Given the description of an element on the screen output the (x, y) to click on. 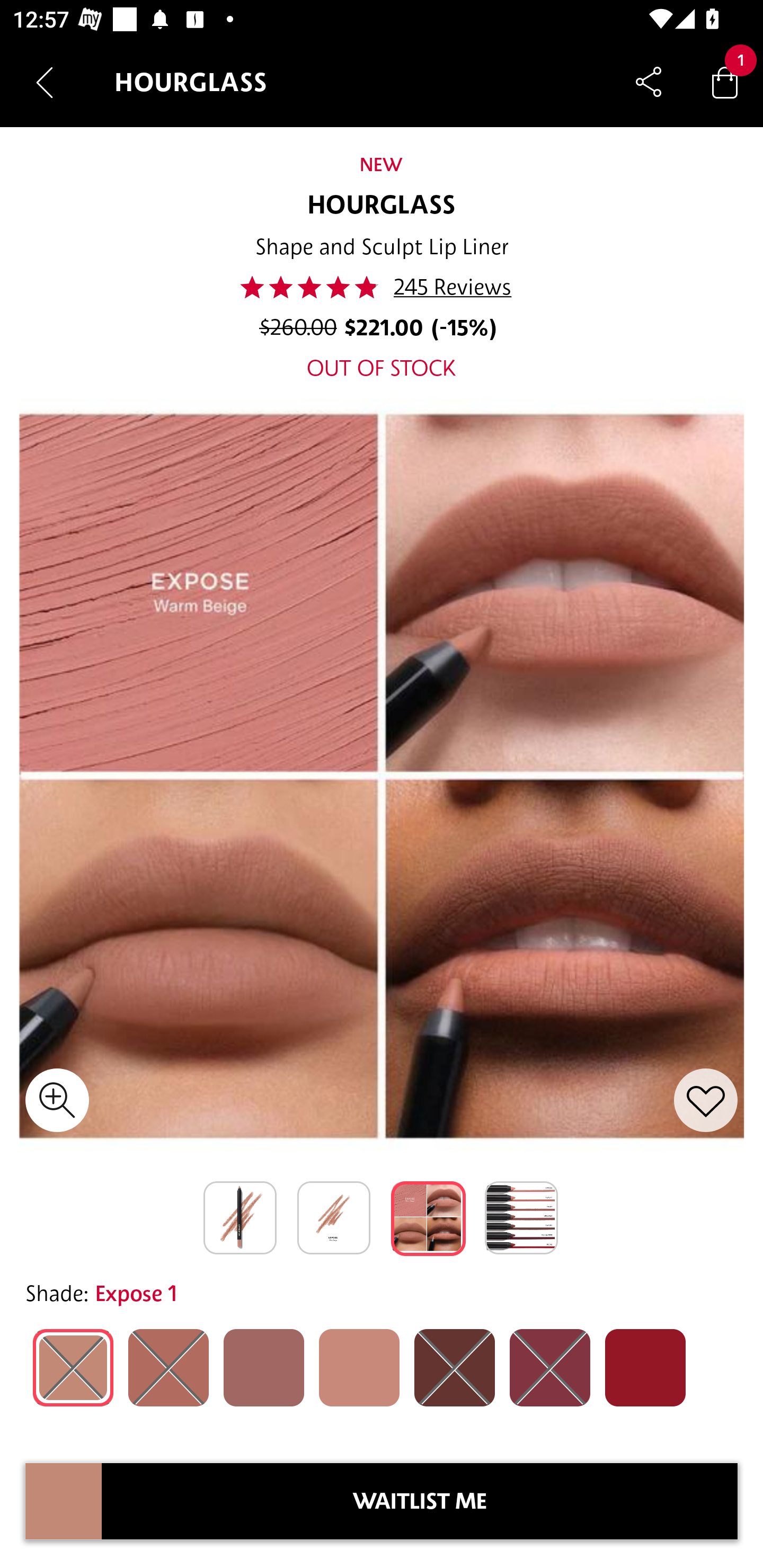
Navigate up (44, 82)
Share (648, 81)
Bag (724, 81)
HOURGLASS (381, 205)
48.0 245 Reviews (381, 286)
WAITLIST ME (419, 1500)
